Given the description of an element on the screen output the (x, y) to click on. 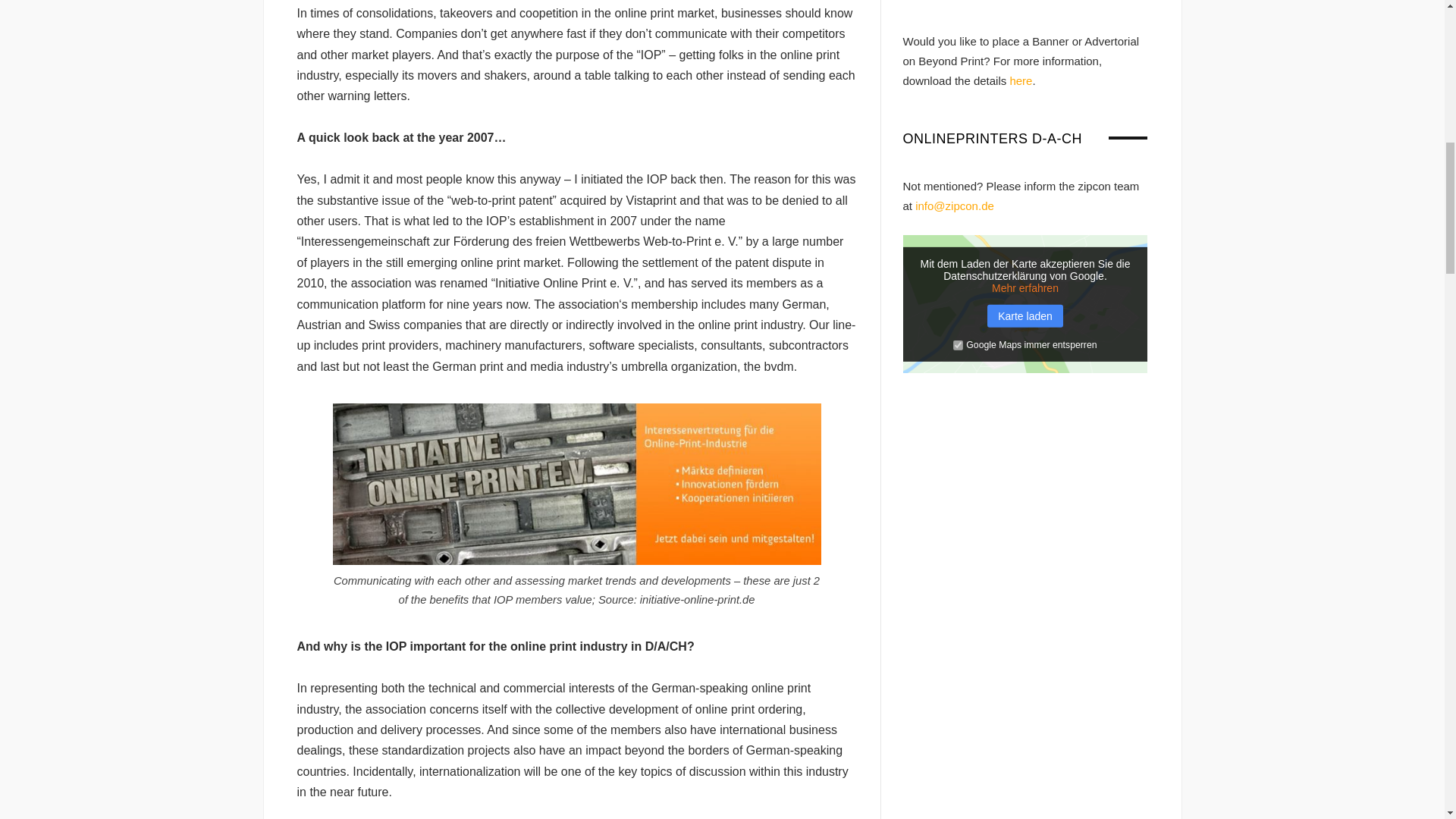
here (1020, 80)
1 (957, 345)
